Given the description of an element on the screen output the (x, y) to click on. 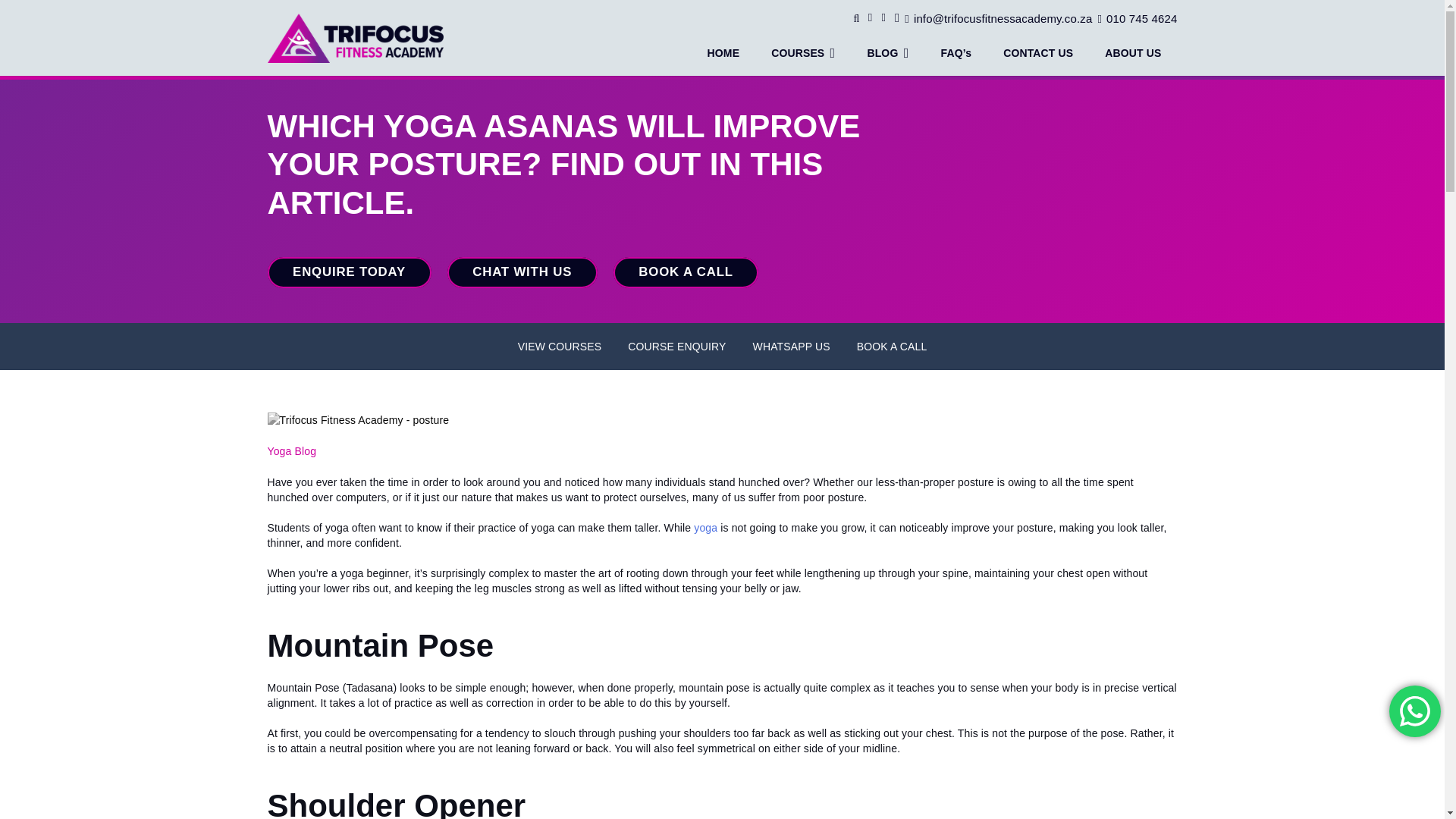
010 745 4624 (1136, 18)
HOME (723, 53)
COURSES (802, 53)
